Given the description of an element on the screen output the (x, y) to click on. 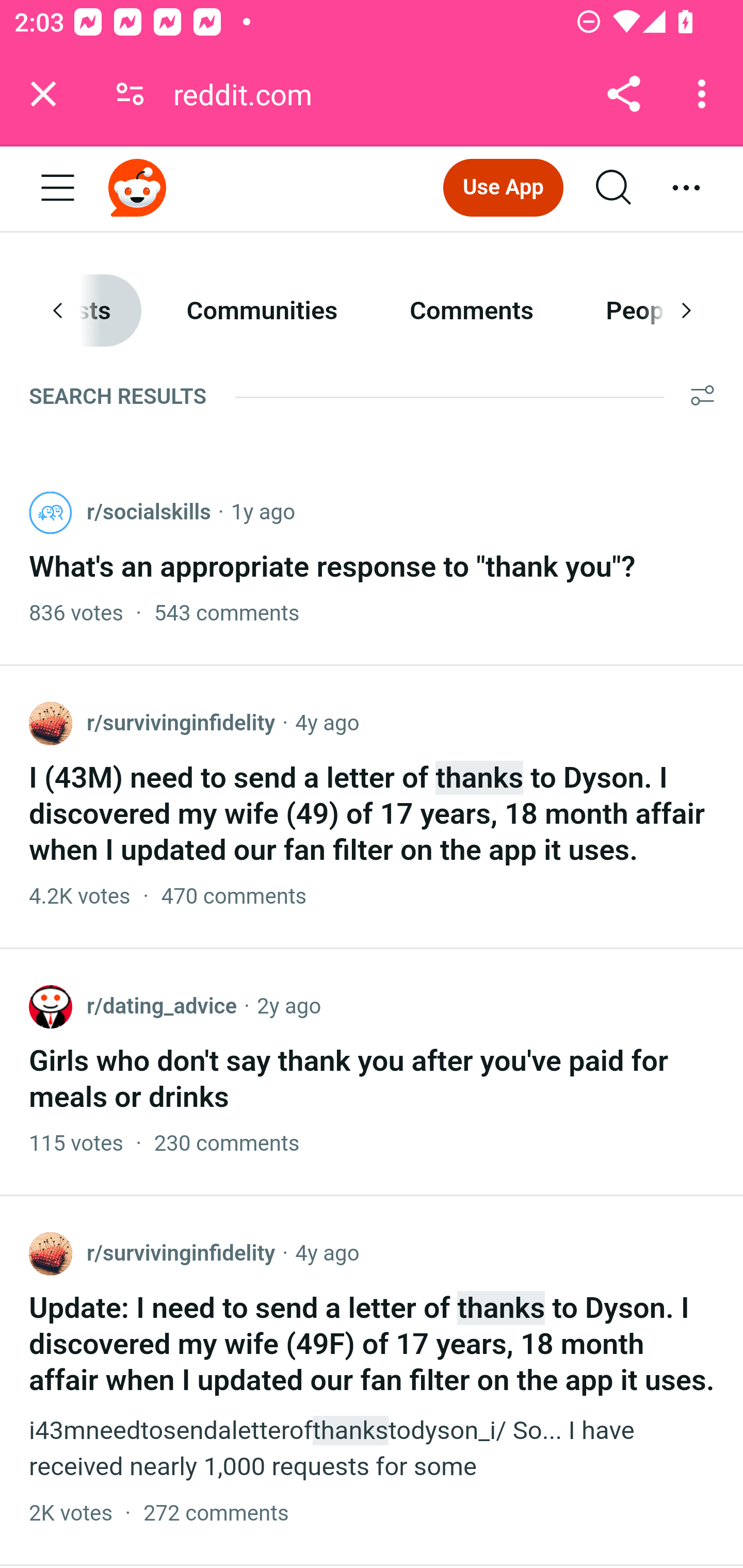
Close tab (43, 93)
Share (623, 93)
Customize and control Google Chrome (705, 93)
Connection is secure (129, 93)
reddit.com (249, 93)
Open menu (58, 188)
Expand search (614, 188)
Expand user menu (686, 188)
Home (137, 187)
Use App (502, 187)
Posts Posts Posts (85, 311)
Communities Communities Communities (262, 311)
Comments Comments Comments (471, 311)
People People People (645, 311)
What's an appropriate response to "thank you"? (371, 559)
What's an appropriate response to "thank you"? (332, 567)
